Given the description of an element on the screen output the (x, y) to click on. 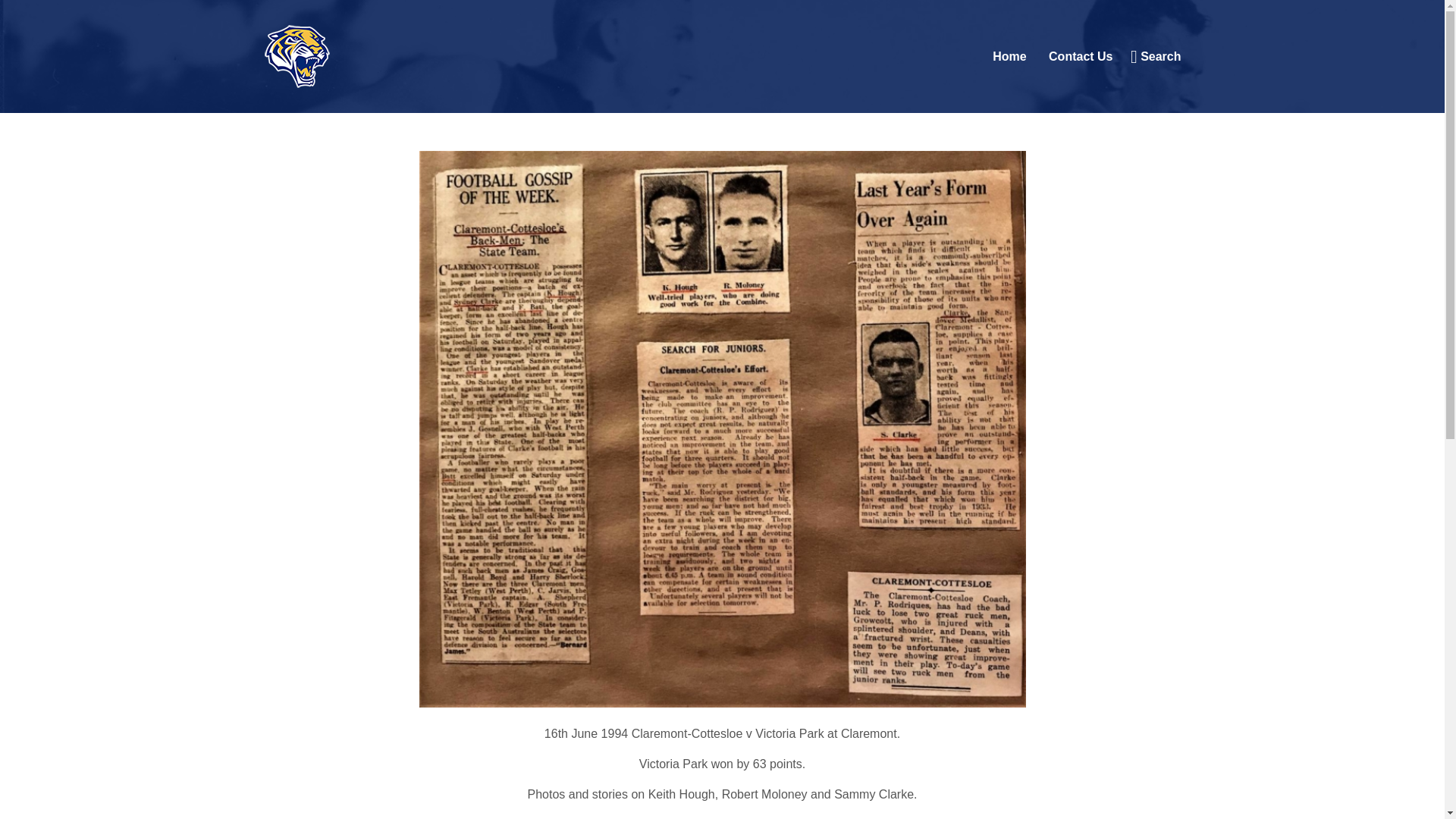
Contact Us (1080, 56)
claremont-logo (296, 56)
Home (1009, 56)
